Given the description of an element on the screen output the (x, y) to click on. 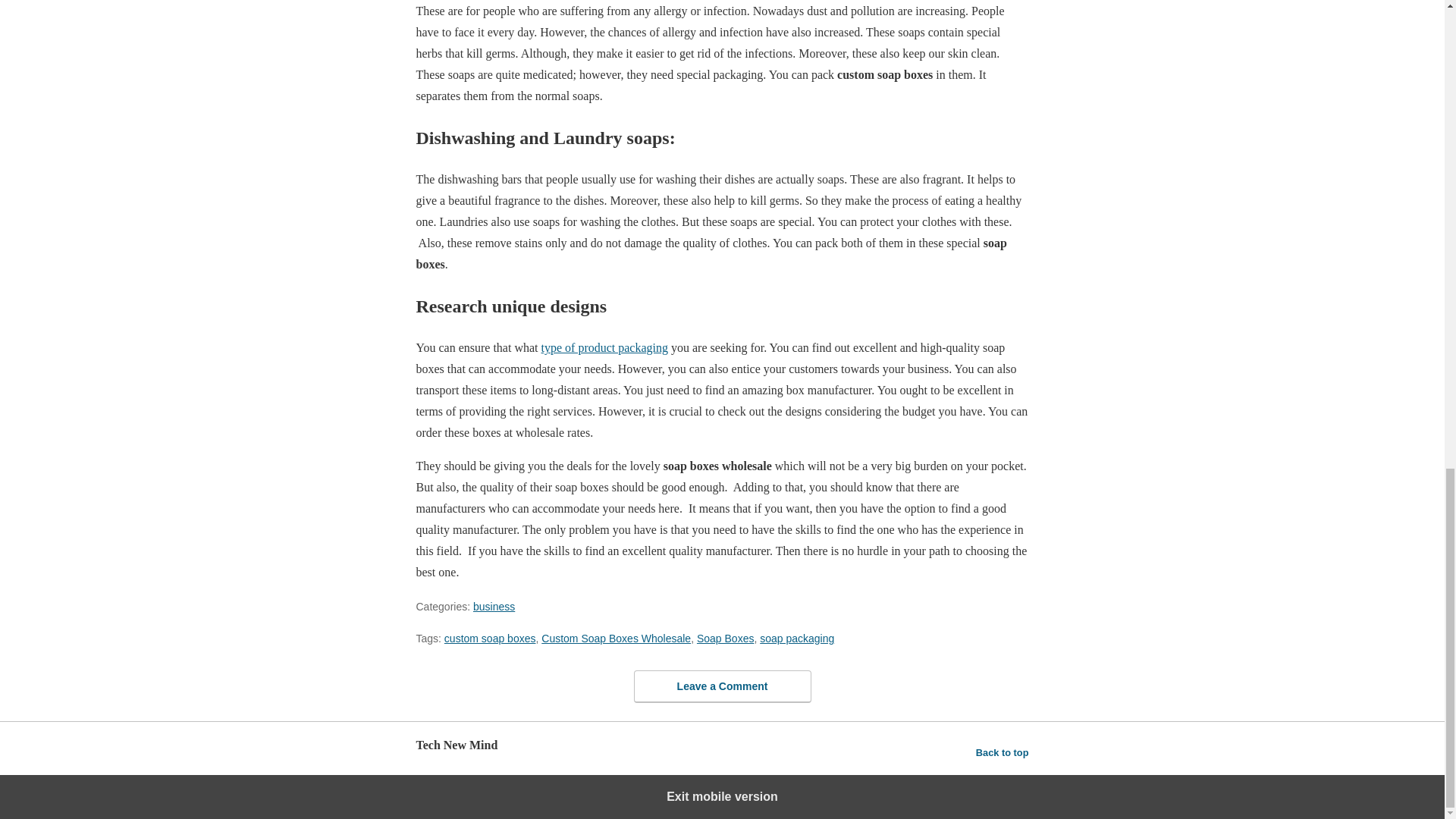
Soap Boxes (725, 638)
Custom Soap Boxes Wholesale (615, 638)
business (494, 606)
Leave a Comment (721, 686)
type of product packaging (604, 347)
soap packaging (797, 638)
custom soap boxes (489, 638)
Back to top (1002, 752)
